Given the description of an element on the screen output the (x, y) to click on. 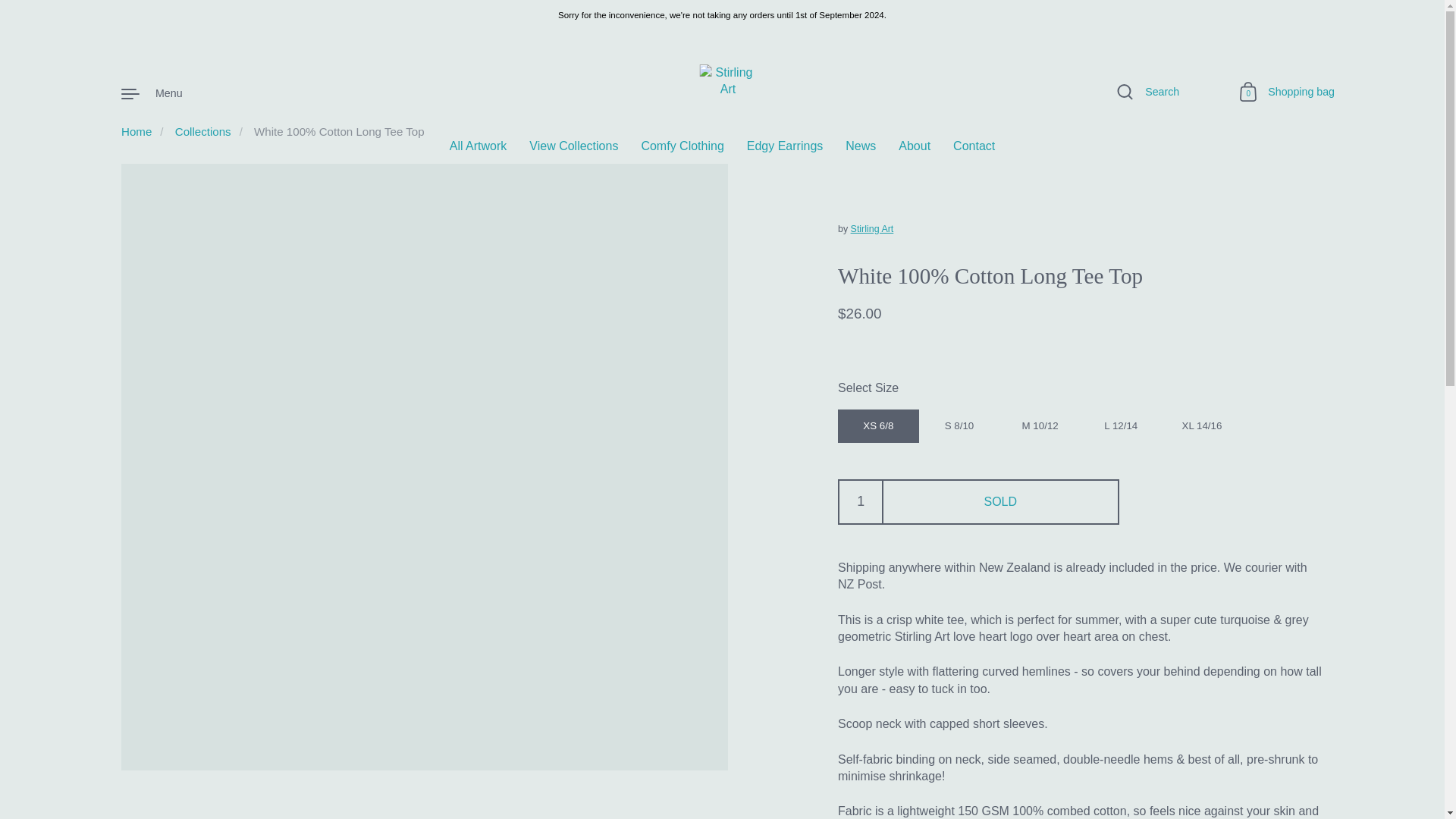
About (914, 145)
Contact (973, 145)
Comfy Clothing (681, 145)
1 (860, 501)
Menu (151, 92)
Edgy Earrings (785, 145)
Search (1147, 92)
News (860, 145)
All Artwork (477, 145)
